Given the description of an element on the screen output the (x, y) to click on. 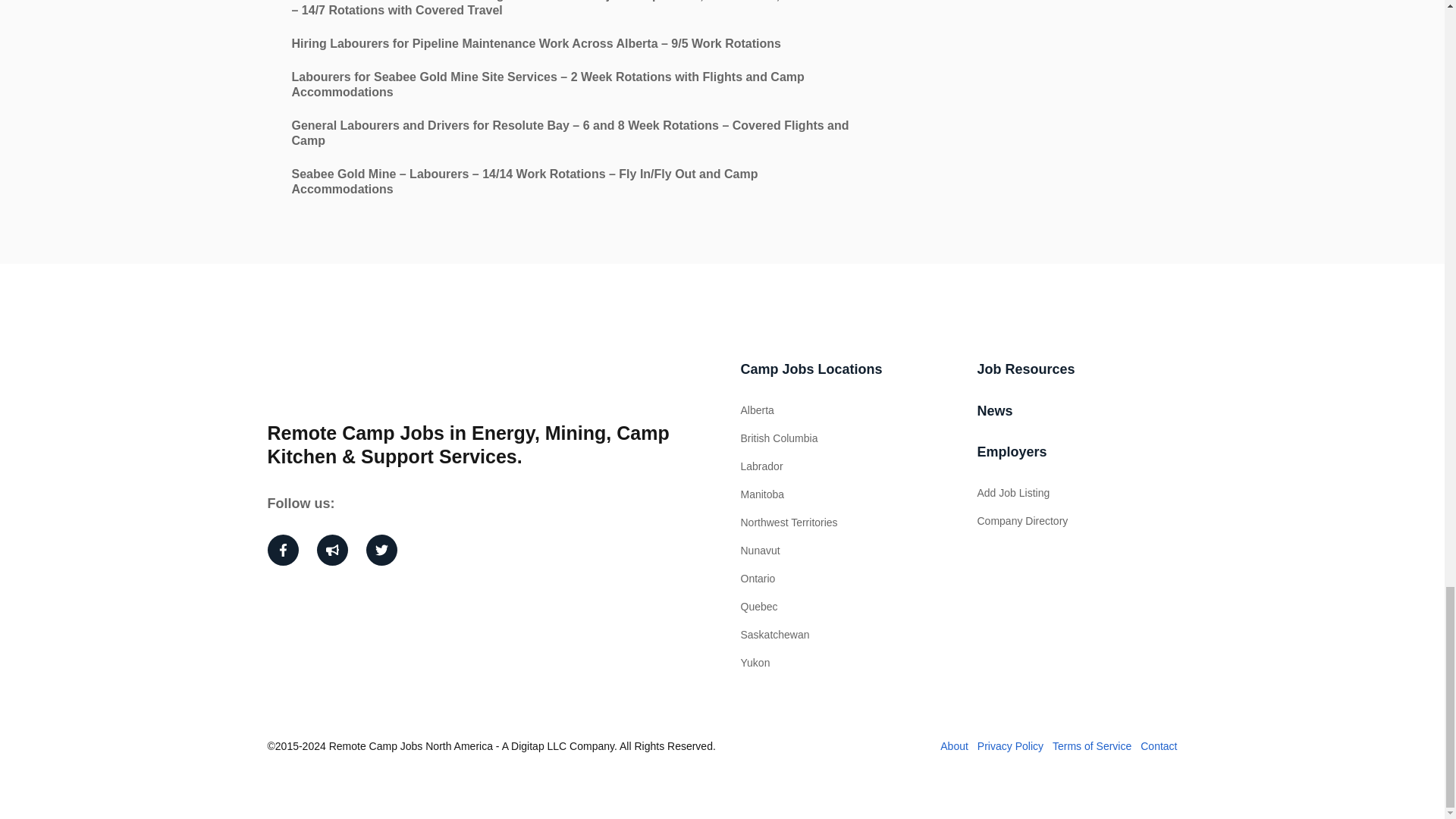
British Columbia (777, 438)
Remote Camp Jobs Homepage Featured Logo (320, 379)
Camp Jobs Locations (810, 368)
Alberta (756, 410)
